Given the description of an element on the screen output the (x, y) to click on. 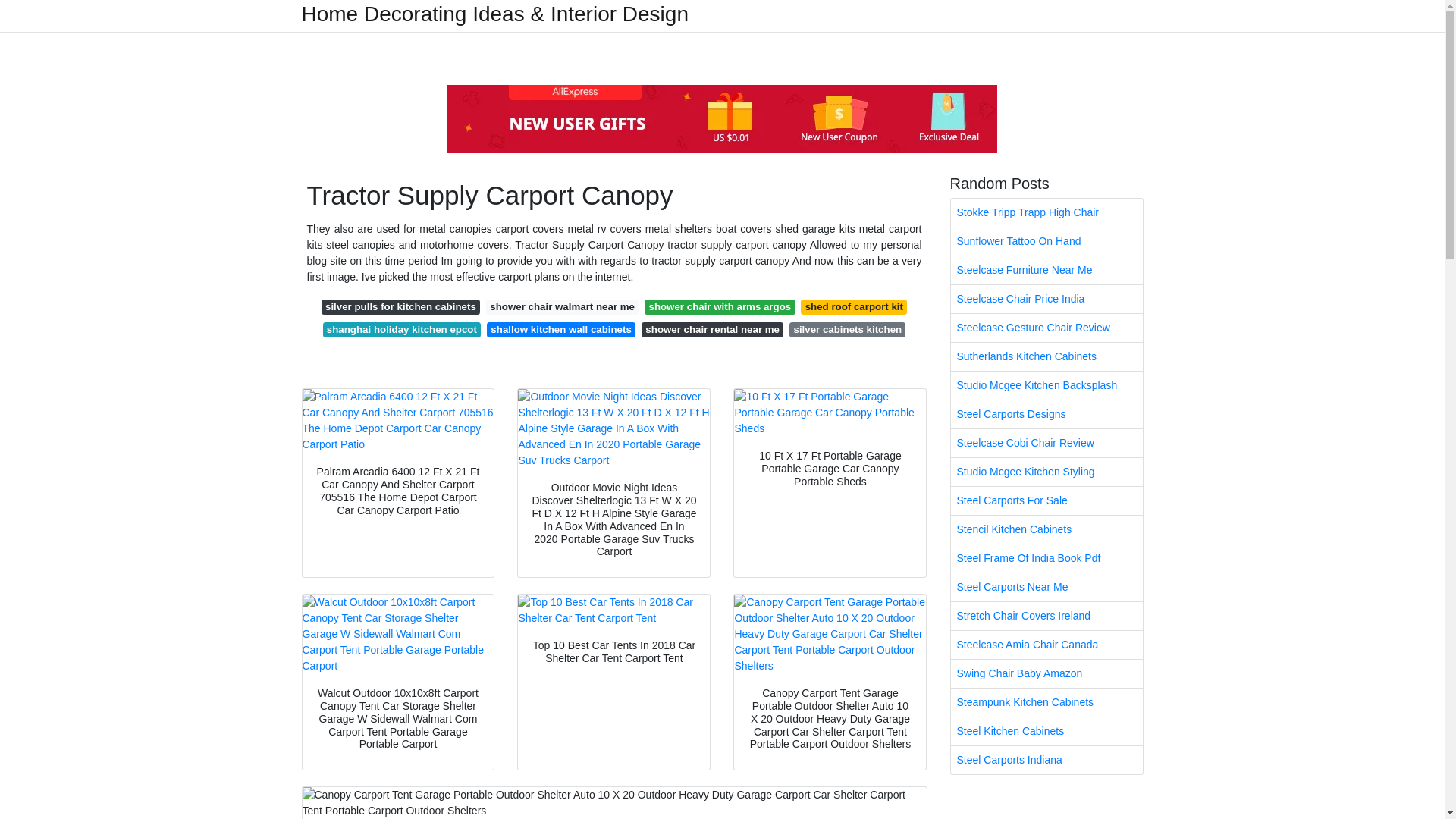
Studio Mcgee Kitchen Backsplash (1046, 385)
shower chair rental near me (712, 329)
shanghai holiday kitchen epcot (402, 329)
Steelcase Furniture Near Me (1046, 270)
Steelcase Chair Price India (1046, 298)
Sunflower Tattoo On Hand (1046, 241)
shed roof carport kit (853, 306)
Steelcase Gesture Chair Review (1046, 327)
Steelcase Cobi Chair Review (1046, 443)
Stokke Tripp Trapp High Chair (1046, 212)
